Given the description of an element on the screen output the (x, y) to click on. 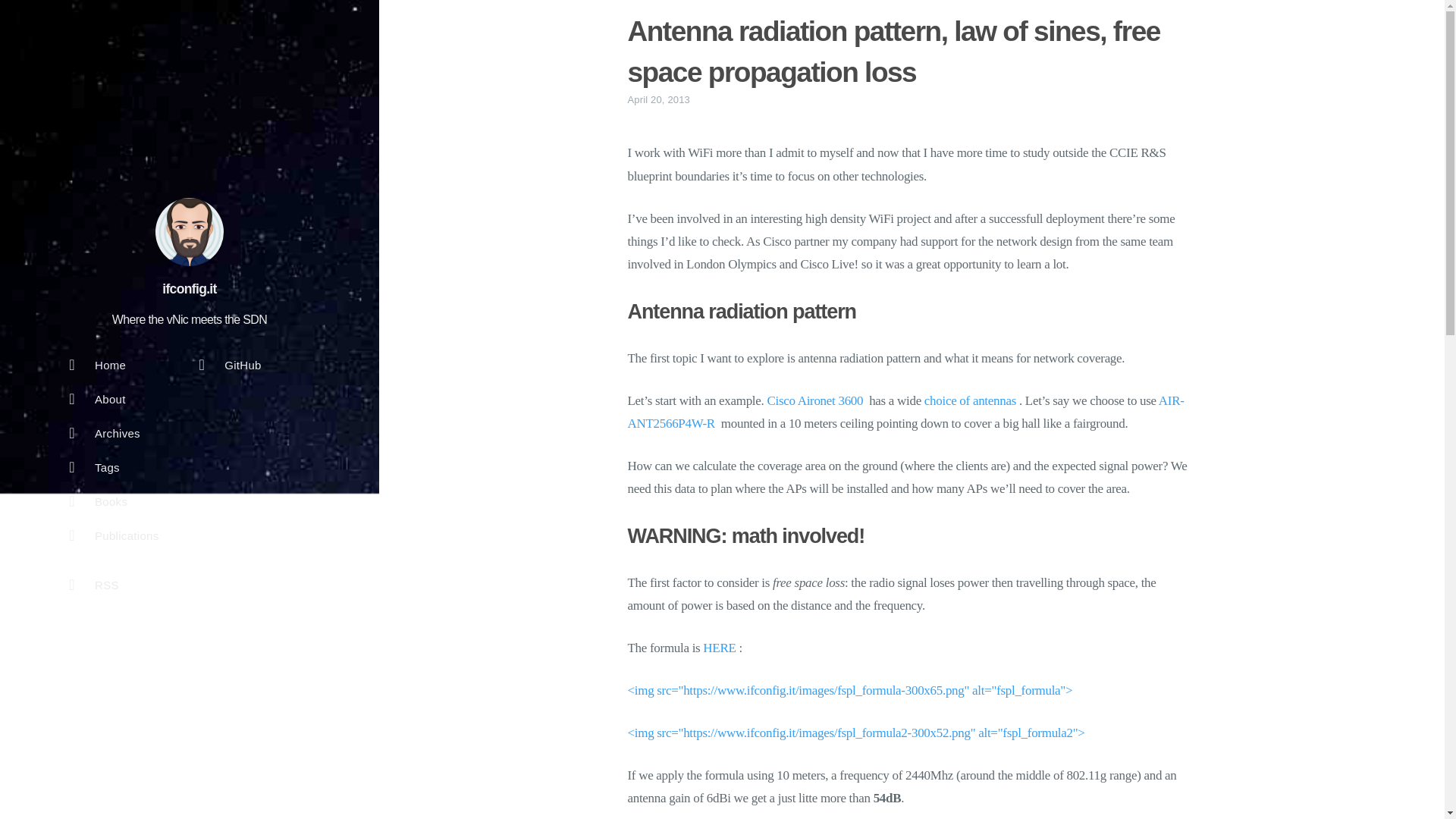
Archives (116, 437)
AIR-ANT2566P4W-R (906, 411)
choice of antennas (970, 400)
Tags (124, 471)
Cisco Aironet 3600 (815, 400)
Books (116, 505)
RSS (116, 588)
RSS (116, 588)
Home (116, 368)
Home (116, 368)
